Given the description of an element on the screen output the (x, y) to click on. 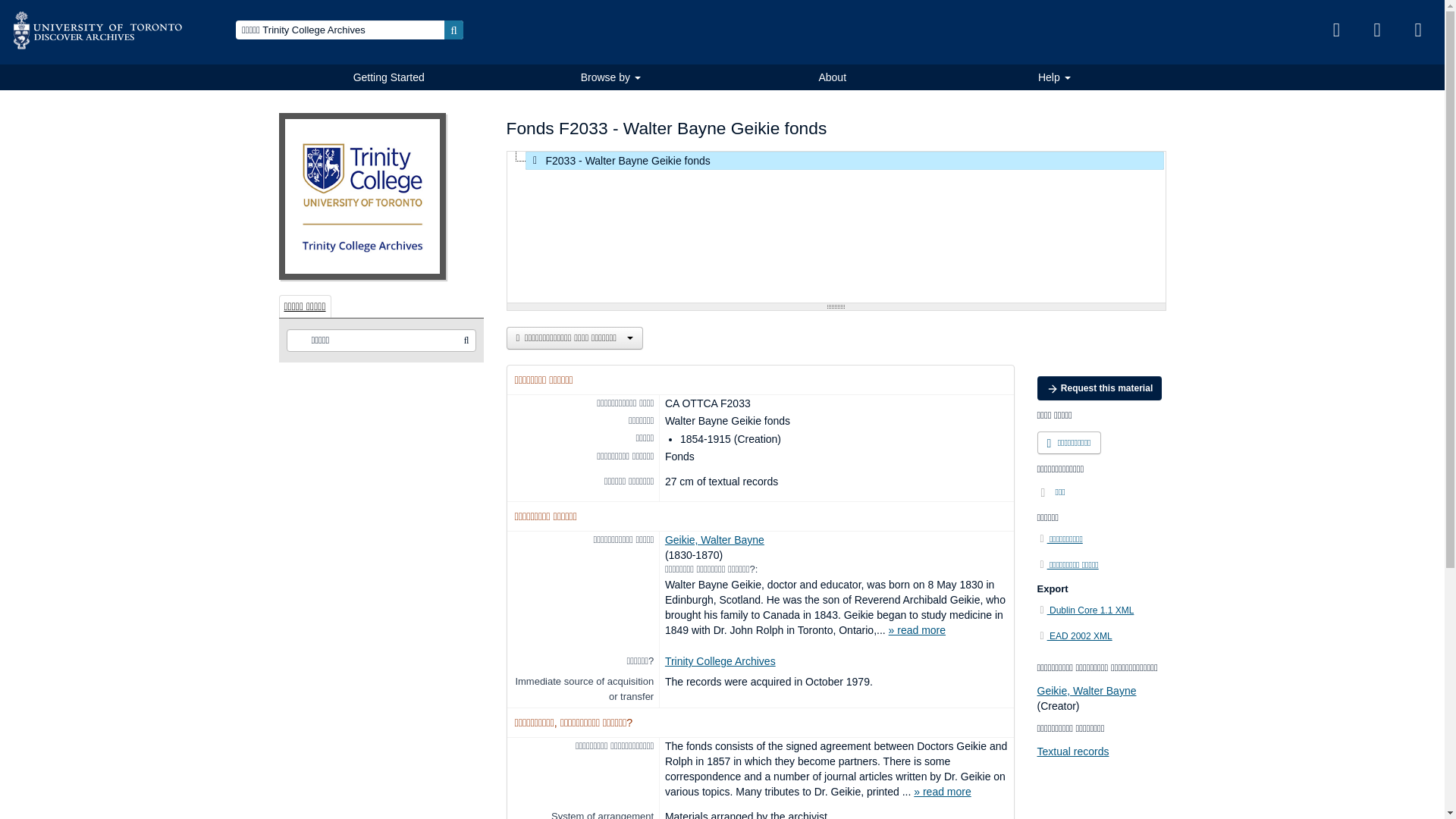
F2033 - Walter Bayne Geikie fonds (843, 160)
Help (1053, 77)
Trinity College Archives (720, 661)
Getting Started (389, 77)
Geikie, Walter Bayne (714, 539)
About (832, 77)
Help (1418, 30)
Browse by (610, 77)
